Given the description of an element on the screen output the (x, y) to click on. 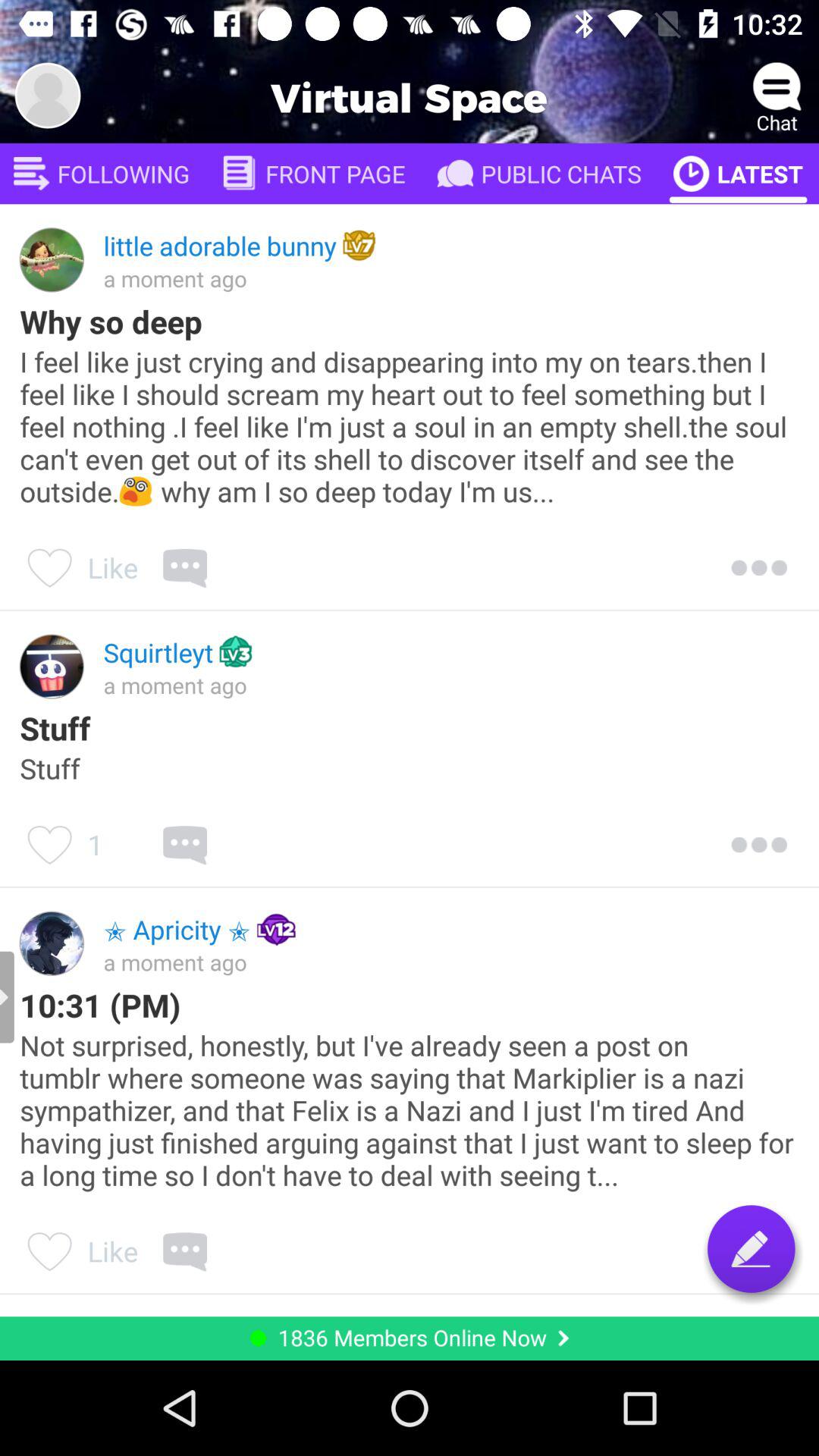
select the dp picture (47, 95)
